Given the description of an element on the screen output the (x, y) to click on. 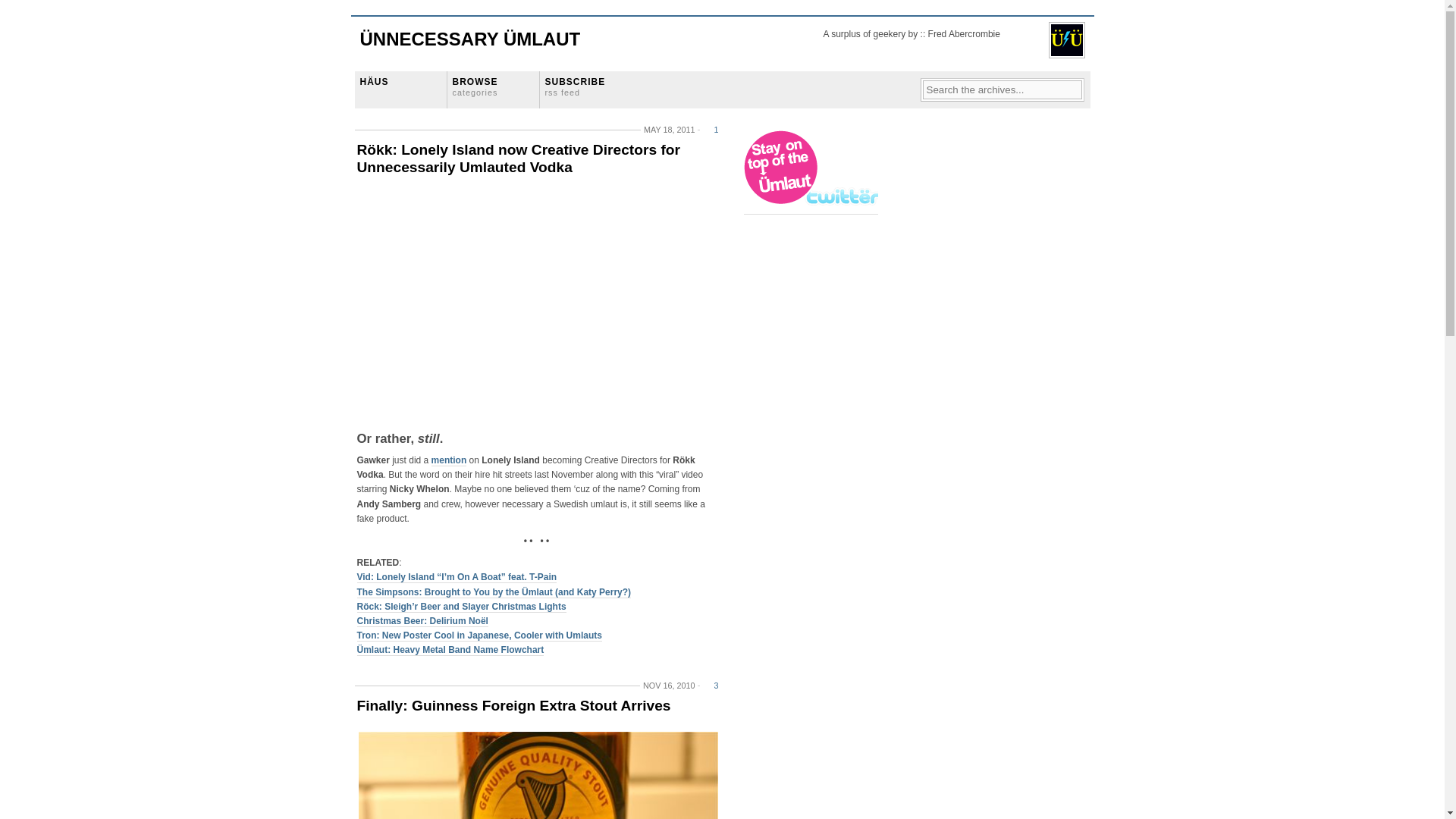
subscribe to the main feed via rss (585, 89)
Lonely Island CDs for Rokk (492, 89)
Finally: Guinness Foreign Extra Stout Arrives (448, 460)
Tron: New Poster Cool in Japanese, Cooler with Umlauts (536, 705)
1 (478, 635)
show categories (715, 129)
3 (492, 89)
return to the the frontpage (715, 685)
Tron: New Poster Cool in Japanese, Cooler with Umlauts (400, 89)
mention (585, 89)
Finally: Guinness Foreign Extra Stout Arrives (478, 635)
Guinness Foreign Extra Stout (448, 460)
Search the archives... (536, 705)
